Given the description of an element on the screen output the (x, y) to click on. 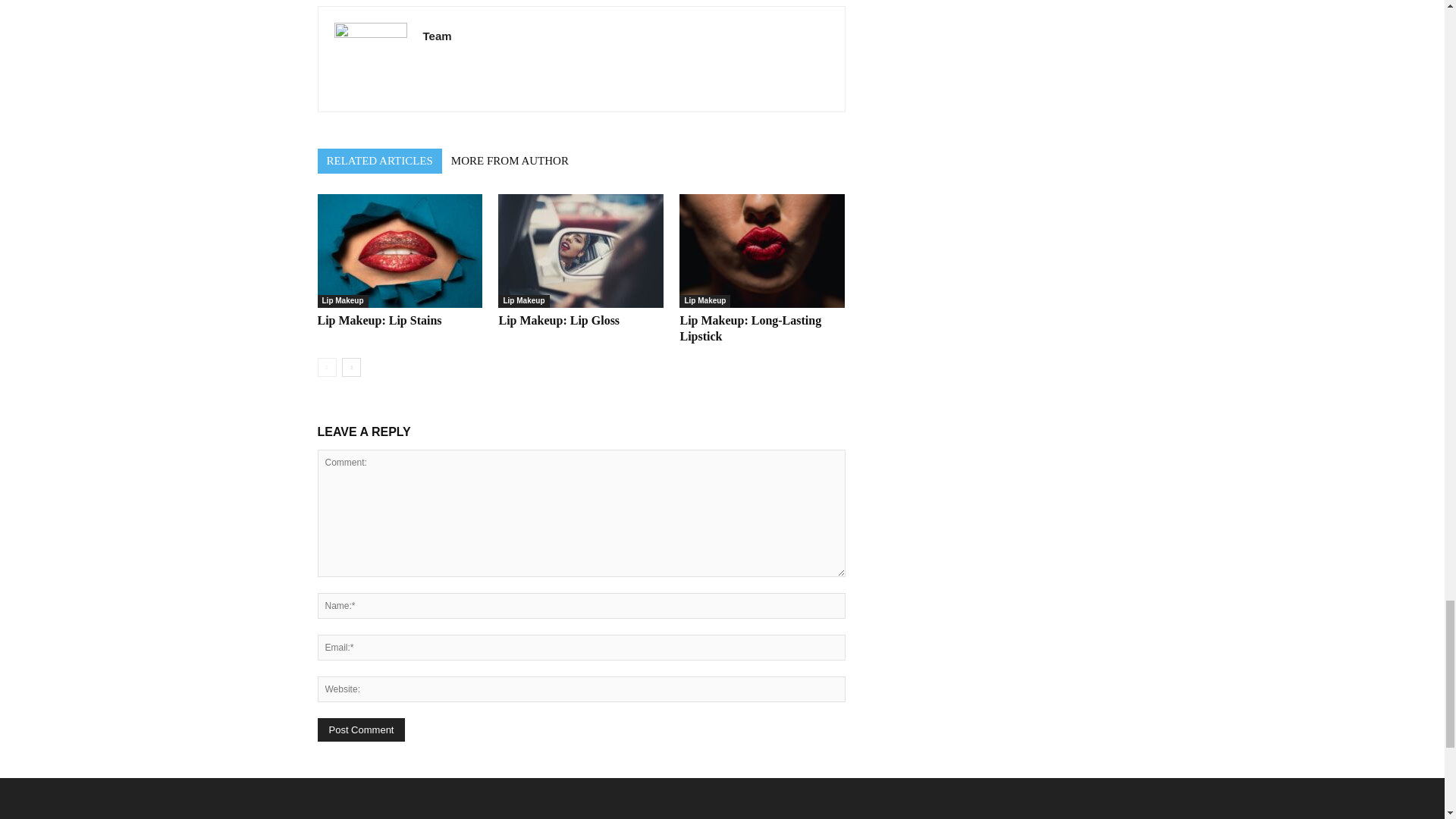
Post Comment (360, 730)
Lip Makeup: Lip Gloss (580, 250)
Lip Makeup: Lip Stains (399, 250)
Lip Makeup: Lip Stains (379, 319)
Lip Makeup: Long-Lasting Lipstick (761, 250)
Lip Makeup: Long-Lasting Lipstick (750, 328)
Lip Makeup: Lip Gloss (558, 319)
